Given the description of an element on the screen output the (x, y) to click on. 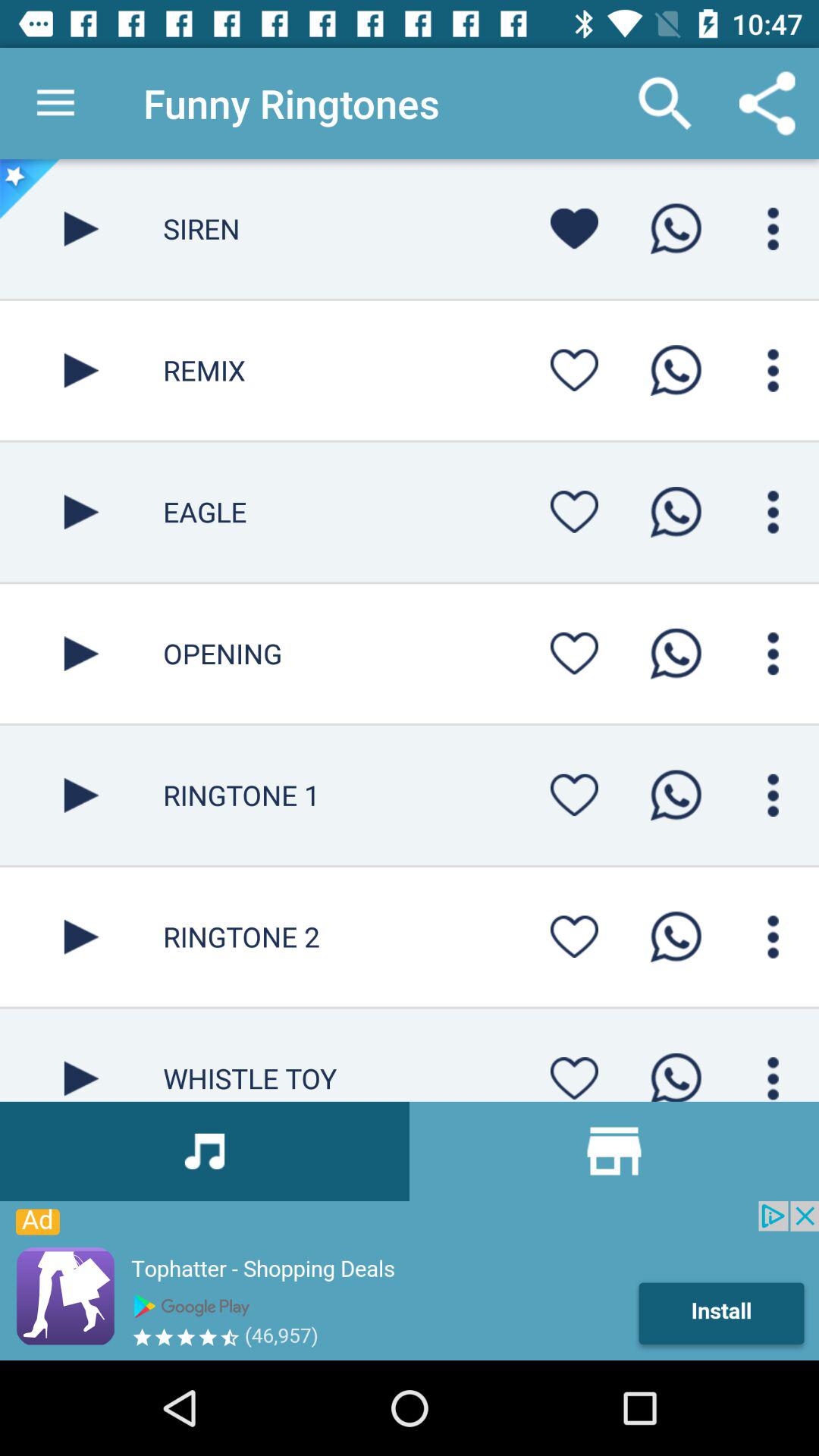
play selected ringtone (81, 936)
